Given the description of an element on the screen output the (x, y) to click on. 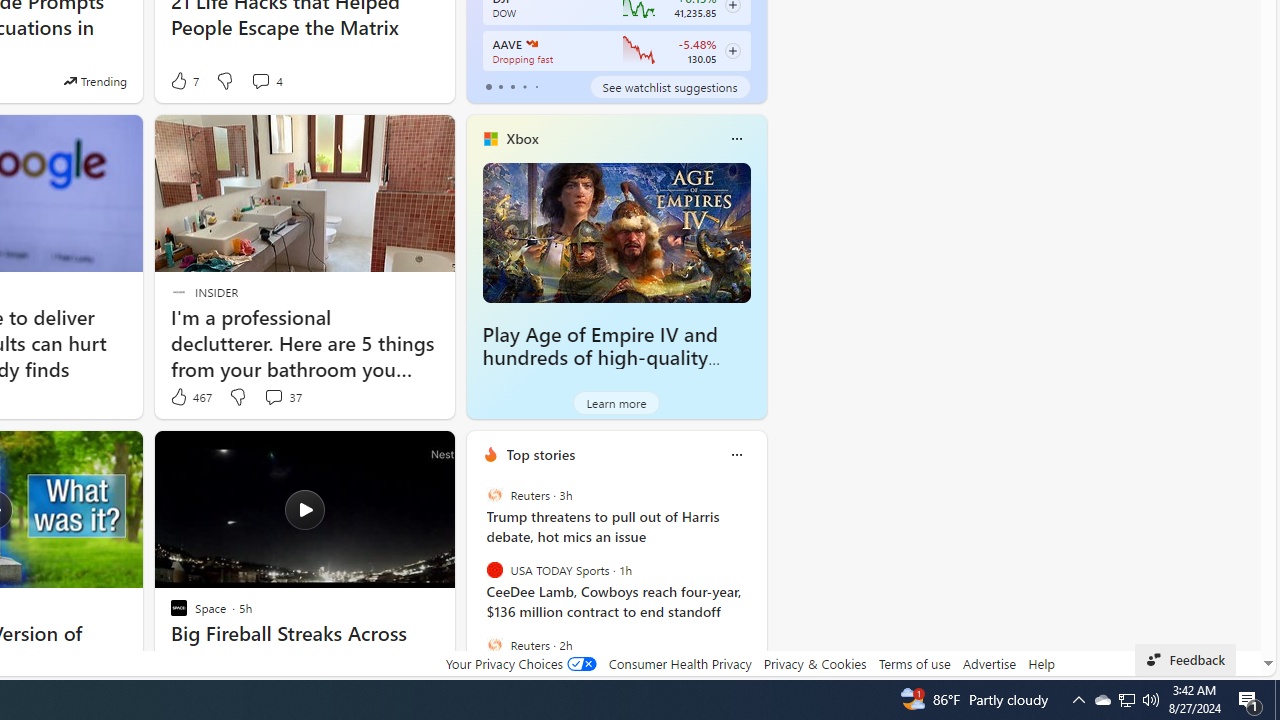
View comments 37 Comment (281, 397)
See watchlist suggestions (669, 86)
Class: follow-button  m (732, 51)
Hide this story (393, 454)
tab-2 (511, 86)
Terms of use (914, 663)
Top stories (540, 454)
tab-3 (524, 86)
next (756, 583)
